Given the description of an element on the screen output the (x, y) to click on. 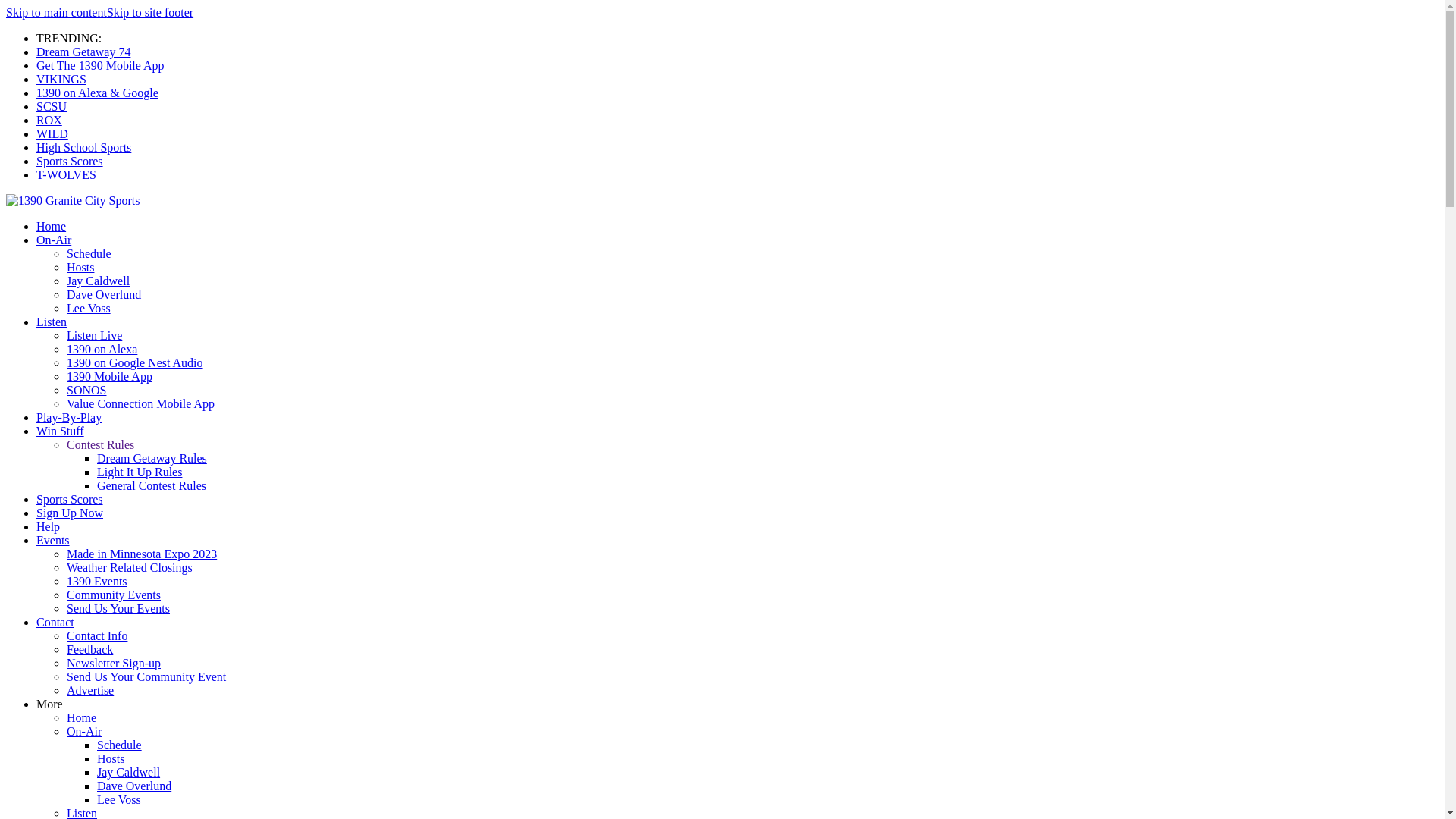
1390 on Alexa & Google Element type: text (97, 92)
Dave Overlund Element type: text (134, 785)
Schedule Element type: text (119, 744)
Advertise Element type: text (89, 690)
Events Element type: text (52, 539)
Newsletter Sign-up Element type: text (113, 662)
Contest Rules Element type: text (100, 444)
Dream Getaway 74 Element type: text (83, 51)
Skip to main content Element type: text (56, 12)
Win Stuff Element type: text (60, 430)
Schedule Element type: text (88, 253)
Contact Element type: text (55, 621)
Lee Voss Element type: text (88, 307)
Home Element type: text (50, 225)
ROX Element type: text (49, 119)
VIKINGS Element type: text (61, 78)
1390 on Google Nest Audio Element type: text (134, 362)
High School Sports Element type: text (83, 147)
Hosts Element type: text (110, 758)
Listen Live Element type: text (94, 335)
Send Us Your Events Element type: text (117, 608)
Skip to site footer Element type: text (149, 12)
On-Air Element type: text (83, 730)
Play-By-Play Element type: text (68, 417)
Light It Up Rules Element type: text (139, 471)
Help Element type: text (47, 526)
Home Element type: text (81, 717)
Hosts Element type: text (80, 266)
Lee Voss Element type: text (119, 799)
Sports Scores Element type: text (69, 160)
1390 Mobile App Element type: text (109, 376)
Jay Caldwell Element type: text (97, 280)
Dave Overlund Element type: text (103, 294)
1390 Events Element type: text (96, 580)
Sports Scores Element type: text (69, 498)
Listen Element type: text (51, 321)
Get The 1390 Mobile App Element type: text (100, 65)
Community Events Element type: text (113, 594)
WILD Element type: text (52, 133)
SONOS Element type: text (86, 389)
Made in Minnesota Expo 2023 Element type: text (141, 553)
General Contest Rules Element type: text (151, 485)
Sign Up Now Element type: text (69, 512)
Contact Info Element type: text (96, 635)
SCSU Element type: text (51, 106)
T-WOLVES Element type: text (66, 174)
Dream Getaway Rules Element type: text (152, 457)
1390 on Alexa Element type: text (101, 348)
Value Connection Mobile App Element type: text (140, 403)
On-Air Element type: text (53, 239)
Feedback Element type: text (89, 649)
Send Us Your Community Event Element type: text (145, 676)
Jay Caldwell Element type: text (128, 771)
Weather Related Closings Element type: text (129, 567)
